Given the description of an element on the screen output the (x, y) to click on. 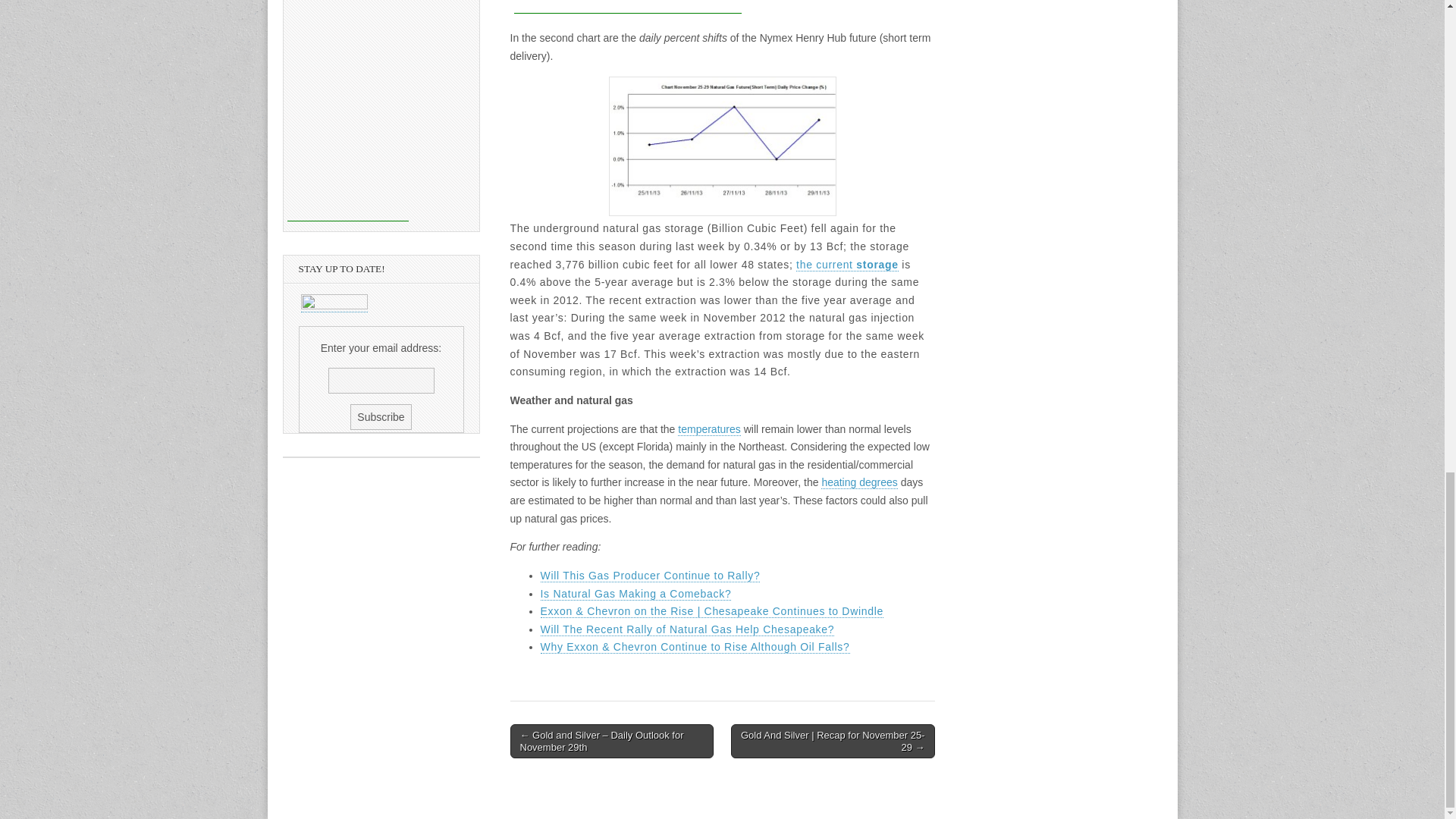
Will This Gas Producer Continue to Rally? (650, 575)
Will The Recent Rally of Natural Gas Help Chesapeake? (687, 629)
temperatures (708, 429)
Subscribe (380, 416)
heating degrees (858, 481)
Is Natural Gas Making a Comeback? (635, 594)
Subscribe (380, 416)
the current storage (847, 264)
Advertisement (627, 6)
